Given the description of an element on the screen output the (x, y) to click on. 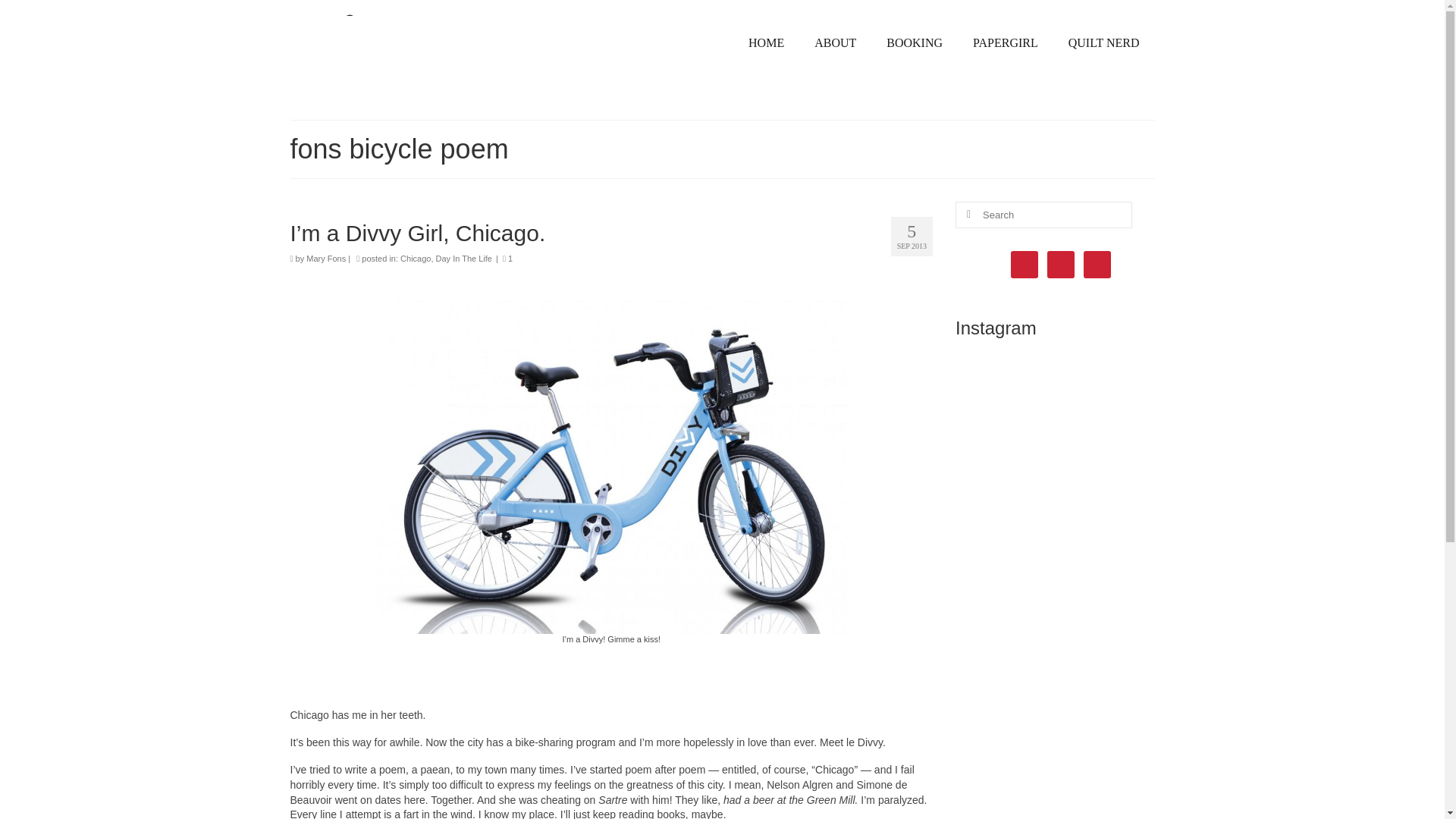
QUILT NERD (1103, 42)
Day In The Life (463, 257)
ABOUT (834, 42)
HOME (766, 42)
Mary Fons (428, 53)
Chicago (415, 257)
1 (507, 257)
Mary Fons (325, 257)
PAPERGIRL (1005, 42)
BOOKING (914, 42)
